Given the description of an element on the screen output the (x, y) to click on. 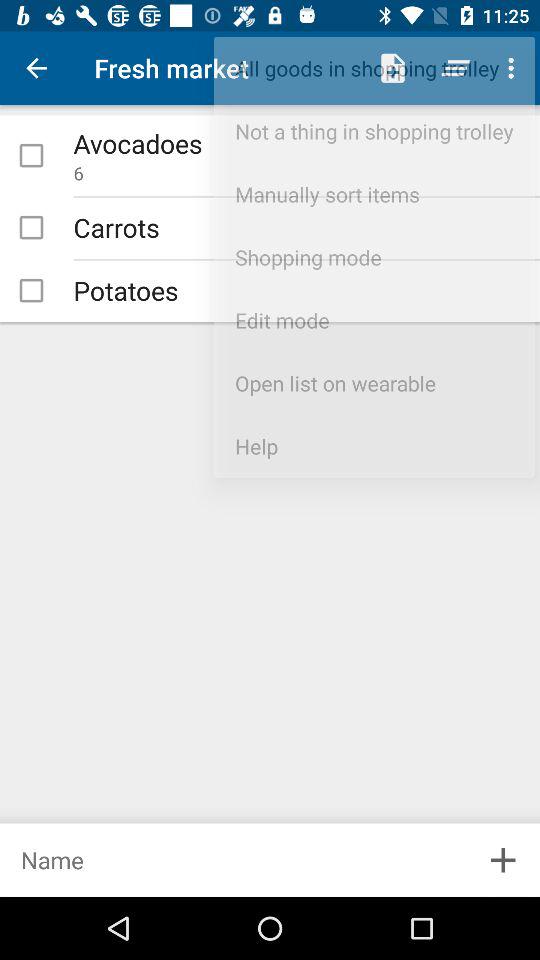
select potatoes (31, 290)
